Given the description of an element on the screen output the (x, y) to click on. 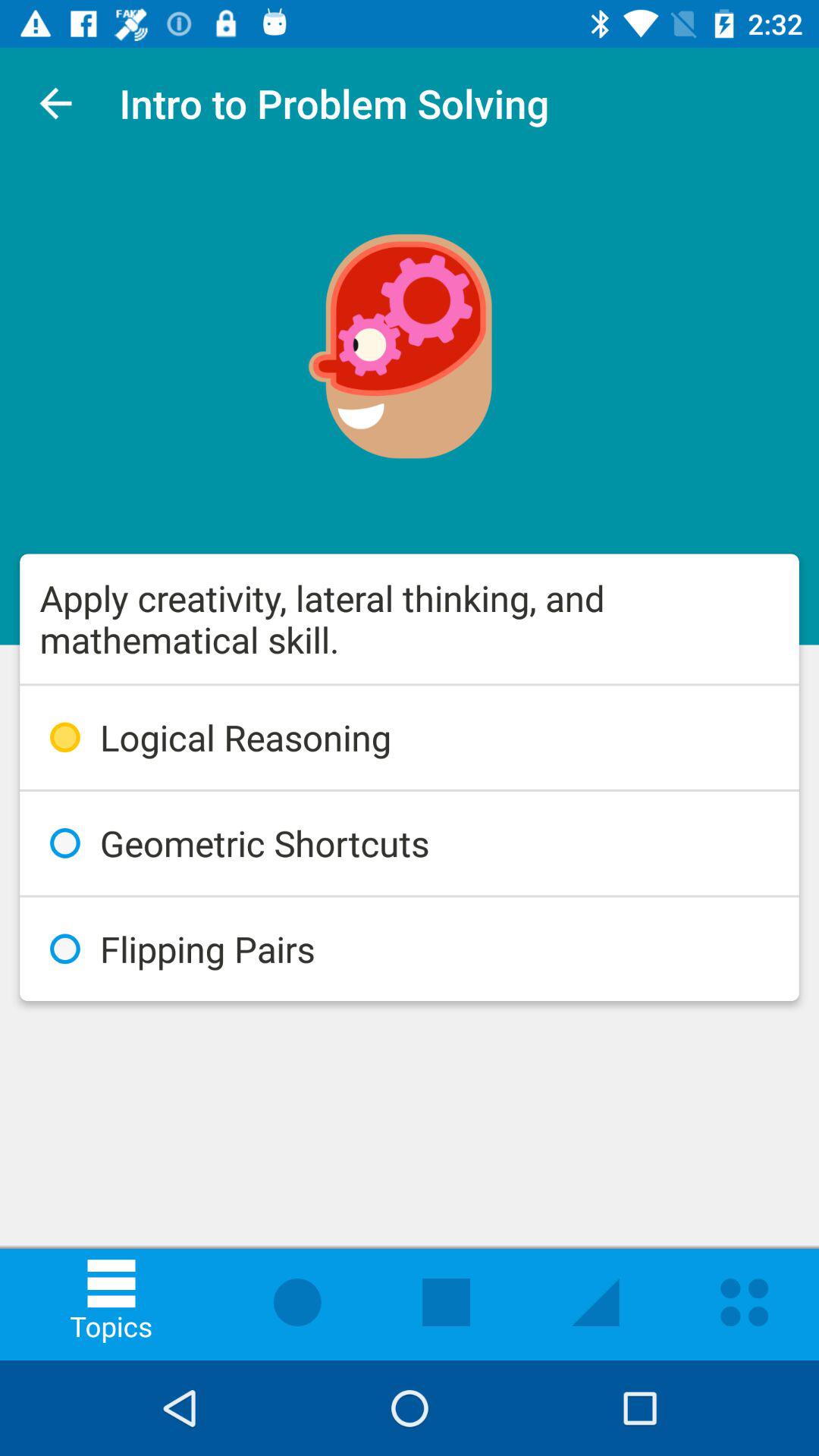
flip to the geometric shortcuts icon (409, 843)
